Given the description of an element on the screen output the (x, y) to click on. 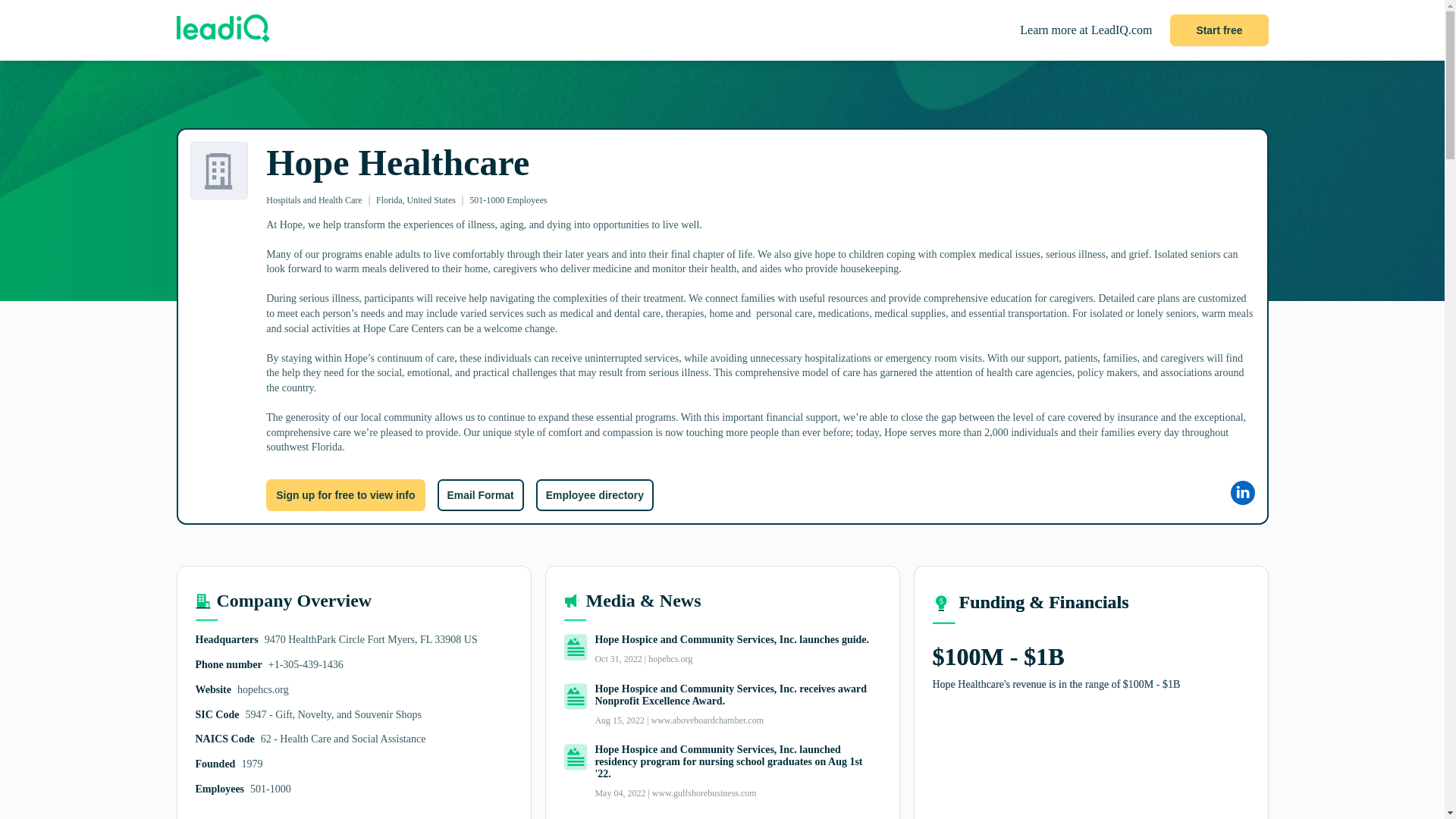
Email Format (479, 495)
Employee directory (594, 495)
hopehcs.org (262, 689)
Sign up for free to view info (345, 495)
Start free (1219, 29)
Learn more at LeadIQ.com (1085, 29)
